Given the description of an element on the screen output the (x, y) to click on. 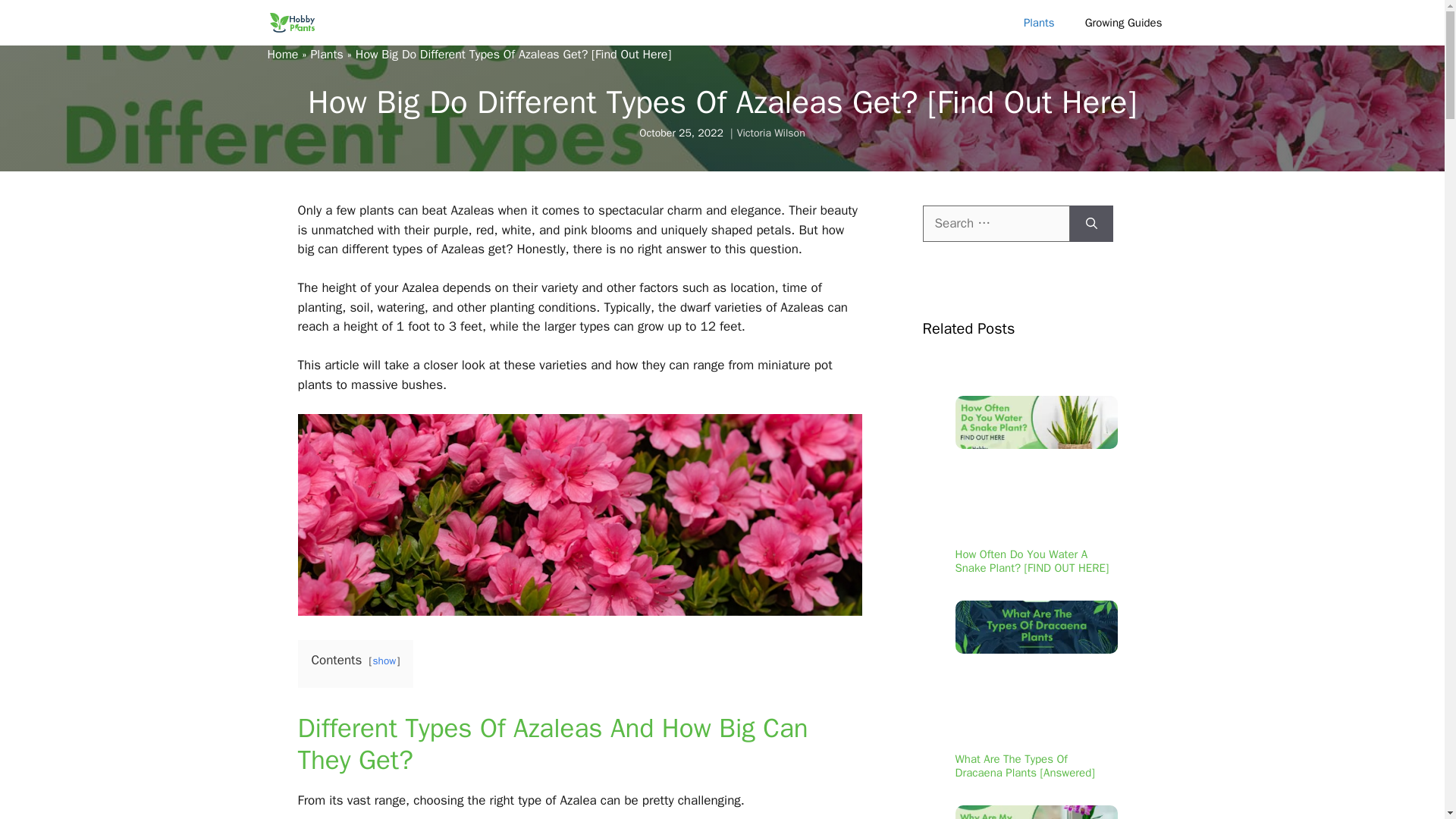
Search for: (994, 223)
pink azaleas (579, 514)
Home (282, 54)
Growing Guides (1123, 22)
Plants (1039, 22)
show (384, 660)
View all posts by Victoria Wilson (770, 132)
Victoria Wilson (770, 132)
Hobby Plants (290, 22)
Plants (326, 54)
